Given the description of an element on the screen output the (x, y) to click on. 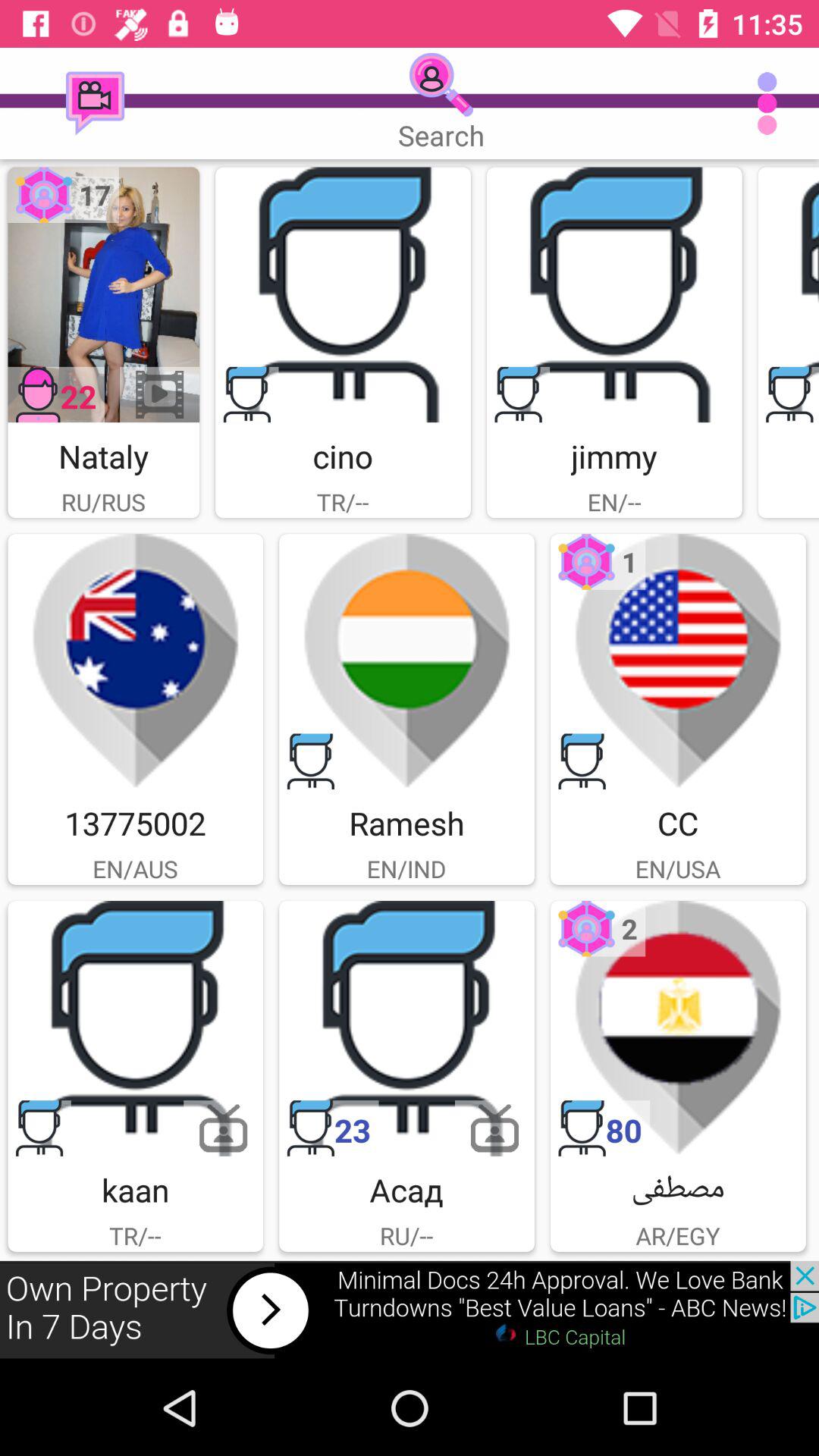
open user 's profile (677, 1028)
